Given the description of an element on the screen output the (x, y) to click on. 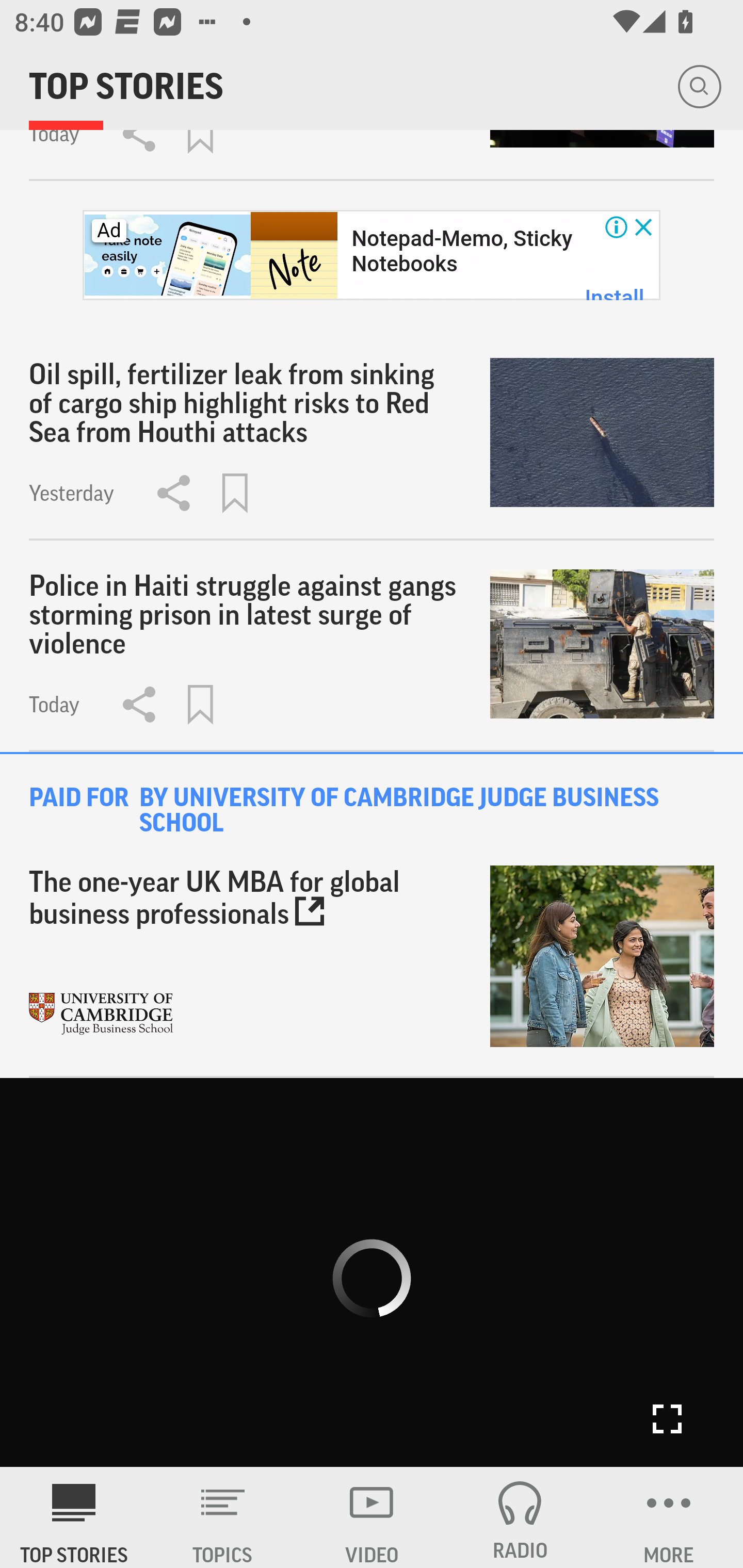
Notepad-Memo, Sticky Notebooks (461, 251)
toggle controls Fullscreen (371, 1272)
Fullscreen (666, 1418)
AP News TOP STORIES (74, 1517)
TOPICS (222, 1517)
VIDEO (371, 1517)
RADIO (519, 1517)
MORE (668, 1517)
